Given the description of an element on the screen output the (x, y) to click on. 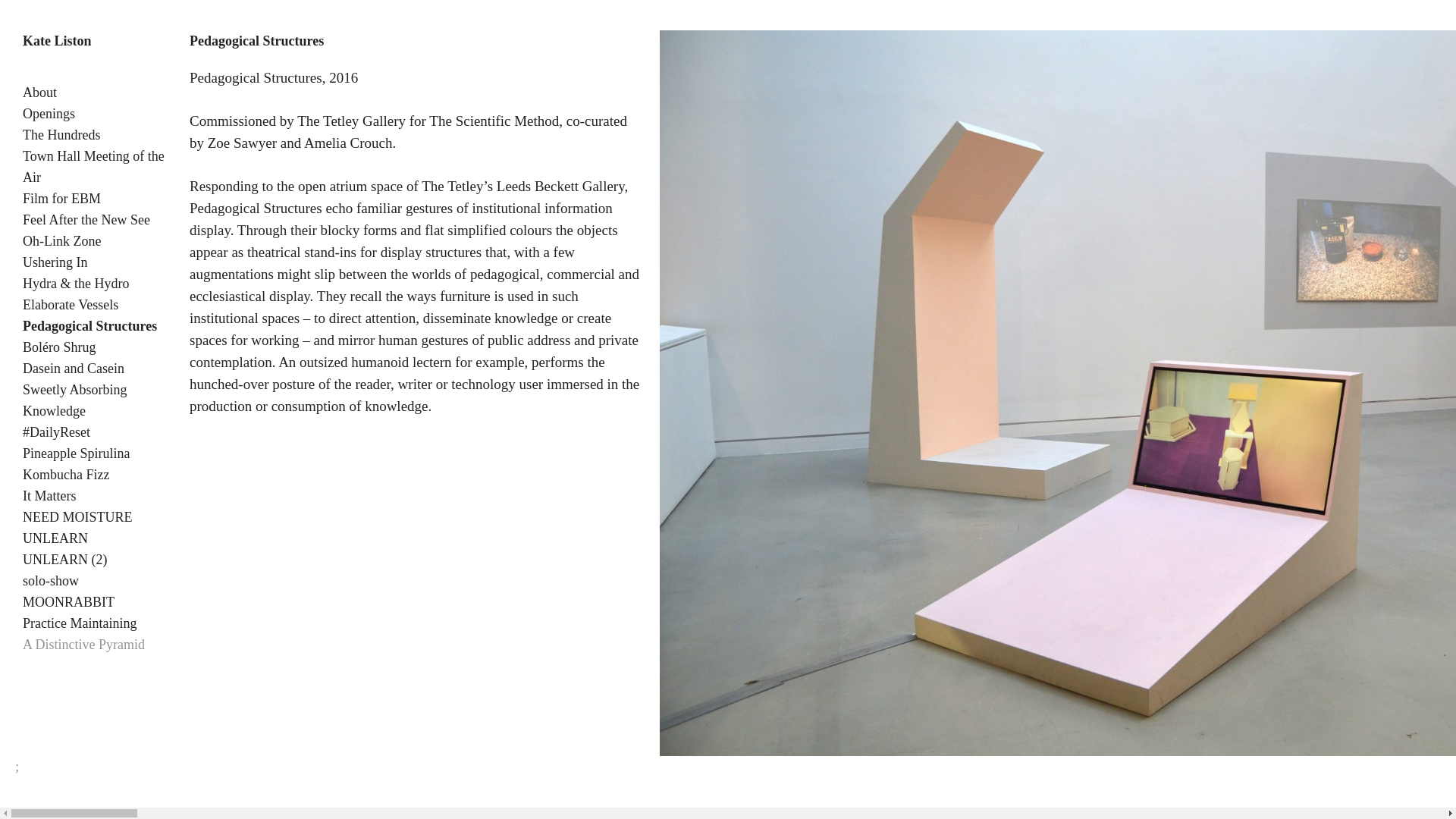
Ushering In (55, 262)
Town Hall Meeting of the Air (93, 166)
solo-show (50, 580)
The Hundreds (61, 134)
UNLEARN (55, 538)
Film for EBM (61, 198)
Openings (49, 113)
NEED MOISTURE (77, 516)
MOONRABBIT (69, 601)
It Matters (49, 495)
Kate Liston (57, 40)
Practice Maintaining (79, 622)
Sweetly Absorbing Knowledge (75, 400)
A Distinctive Pyramid (83, 644)
